Given the description of an element on the screen output the (x, y) to click on. 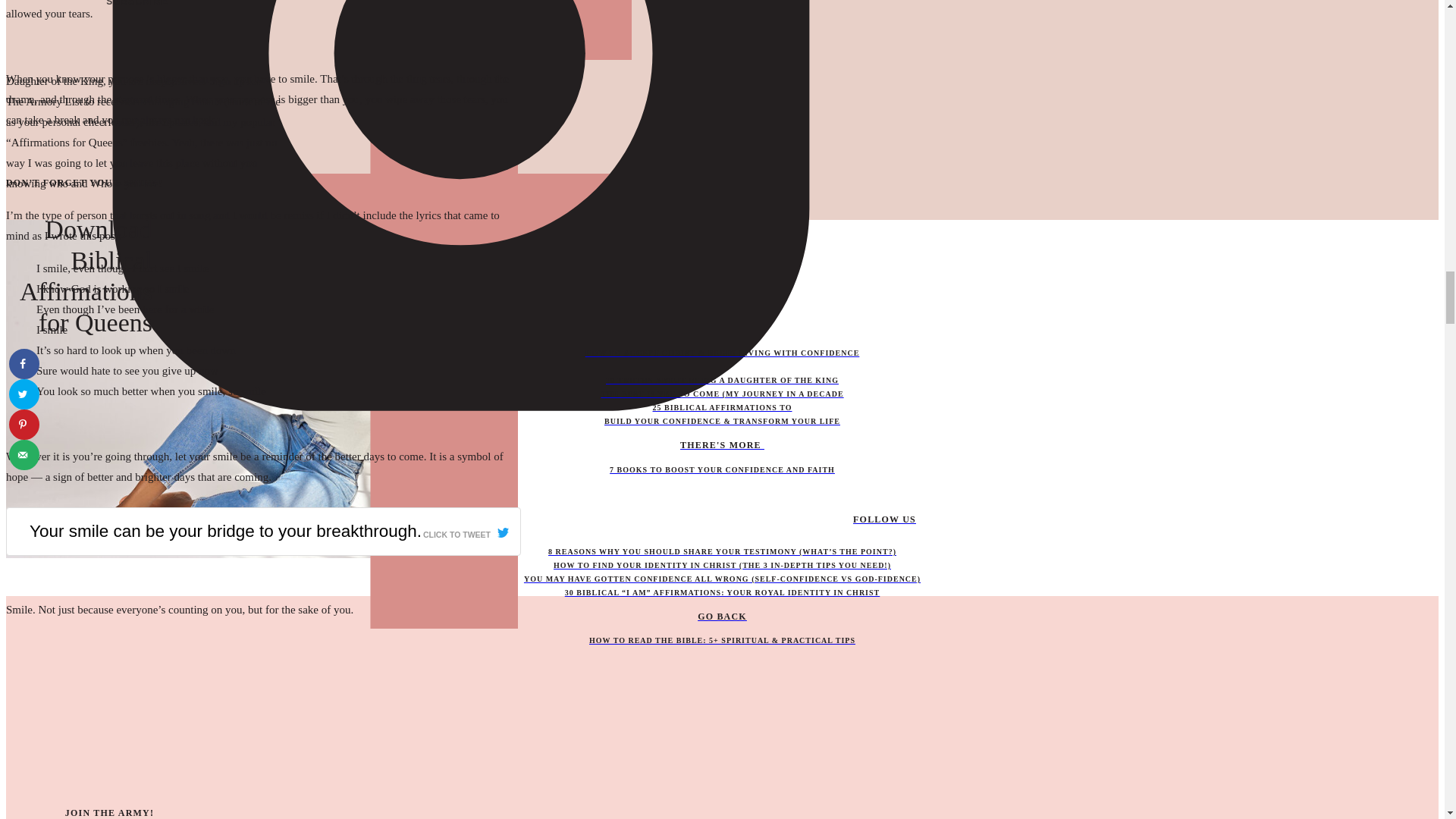
FOLLOW US (460, 519)
